Given the description of an element on the screen output the (x, y) to click on. 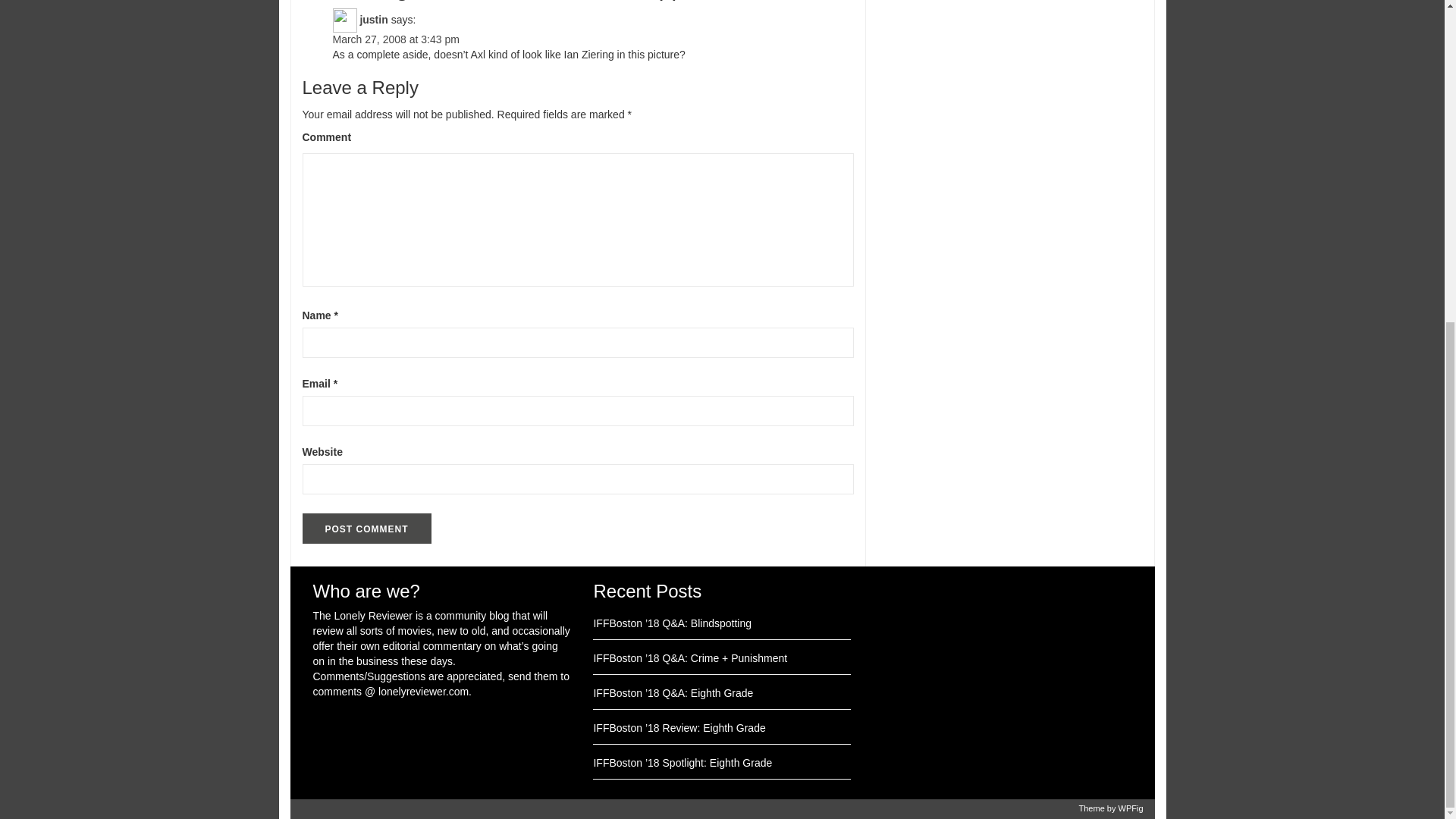
March 27, 2008 at 3:43 pm (394, 39)
Post Comment (365, 528)
Advertisement (1002, 672)
justin (373, 19)
Post Comment (365, 528)
